Given the description of an element on the screen output the (x, y) to click on. 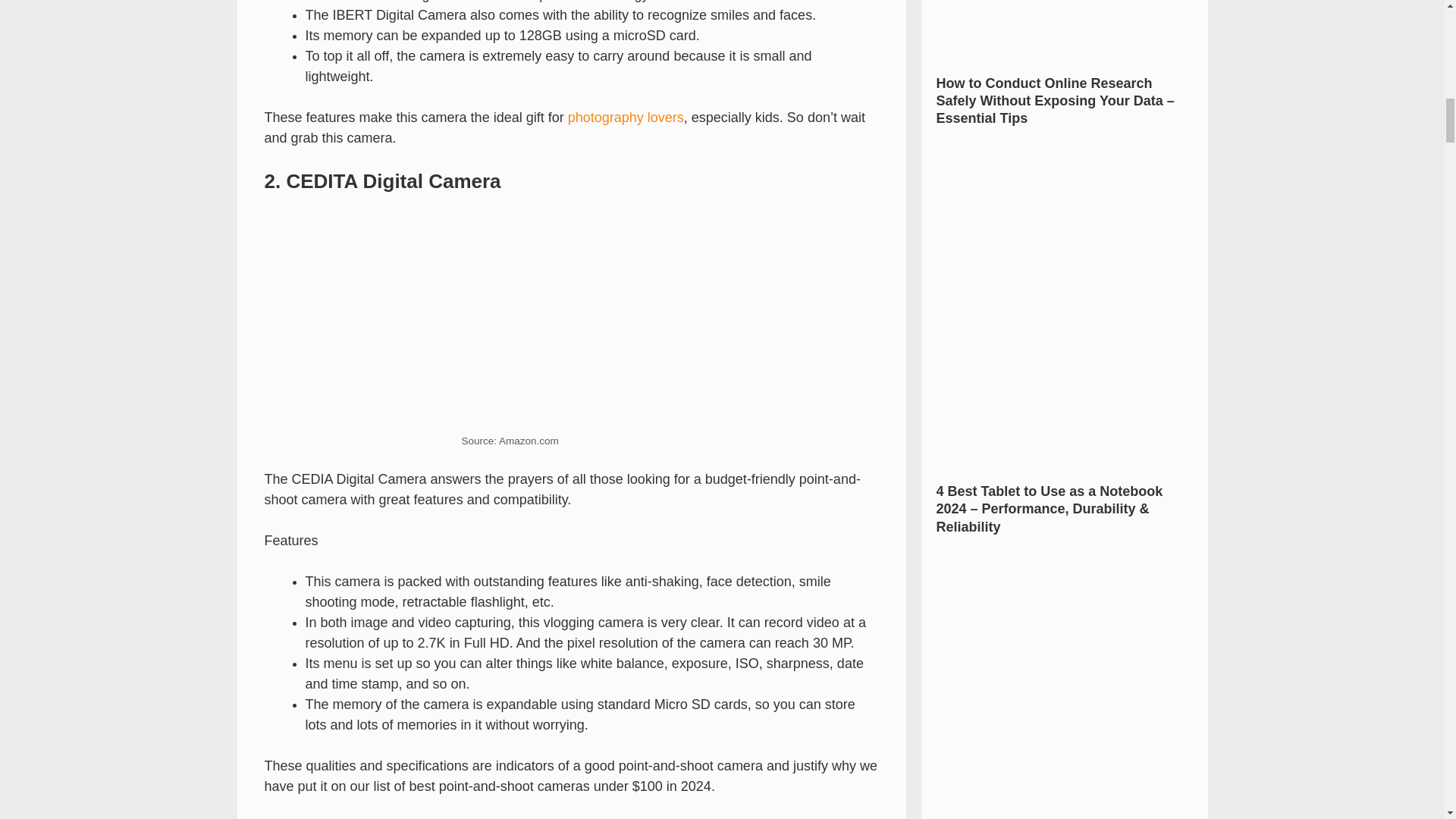
photography lovers (625, 117)
